Given the description of an element on the screen output the (x, y) to click on. 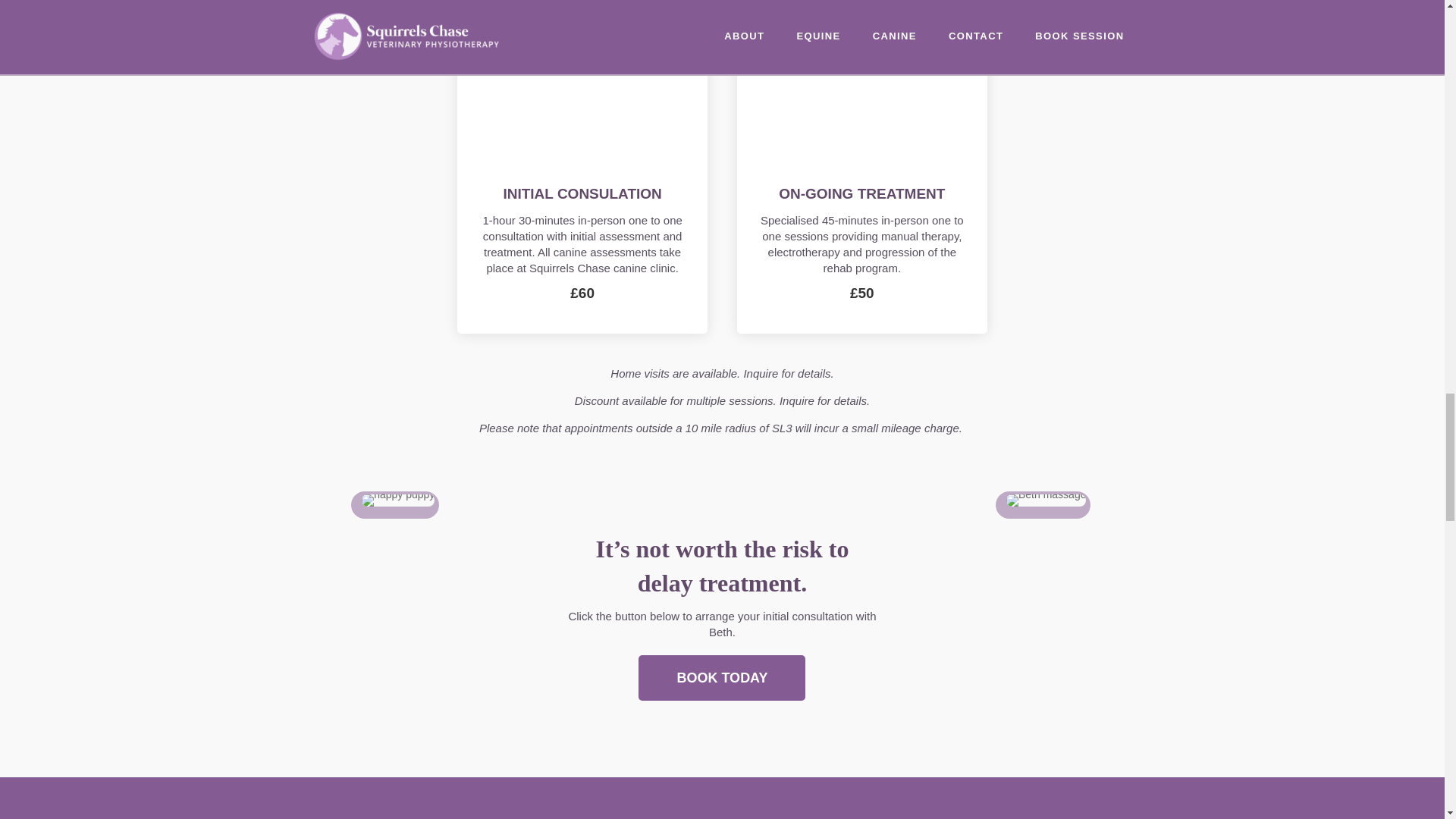
Cacao (1046, 500)
beth mango (397, 500)
BOOK TODAY (722, 678)
